Given the description of an element on the screen output the (x, y) to click on. 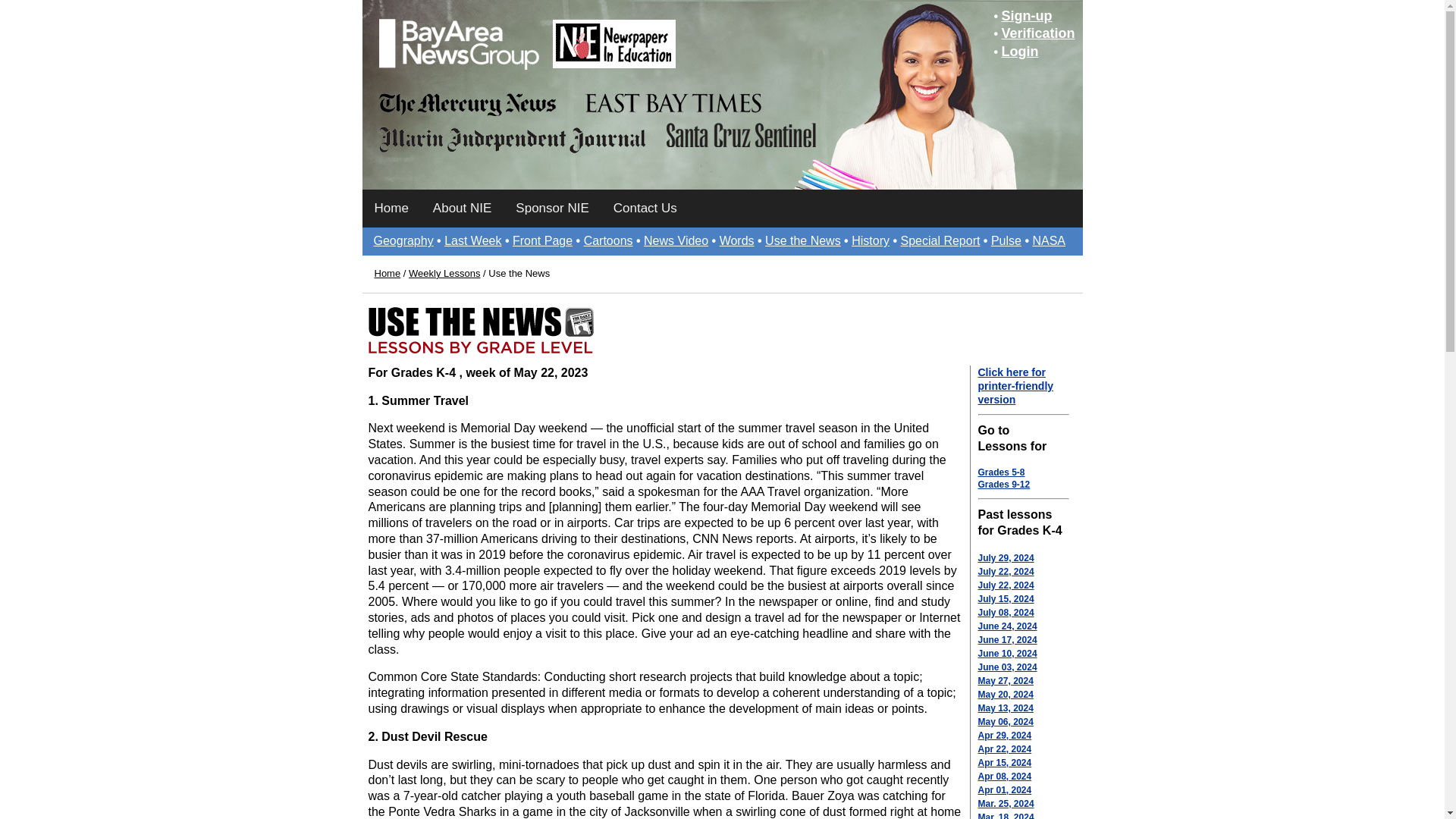
Geography (402, 240)
Sponsor NIE (551, 208)
Home (391, 208)
Login (1019, 51)
Pulse (1006, 240)
History (870, 240)
Verification (1037, 32)
Front Page (542, 240)
Sign-up (1026, 15)
Cartoons (608, 240)
Last Week (472, 240)
Use the News (803, 240)
Contact Us (644, 208)
About NIE (461, 208)
Special Report (939, 240)
